Given the description of an element on the screen output the (x, y) to click on. 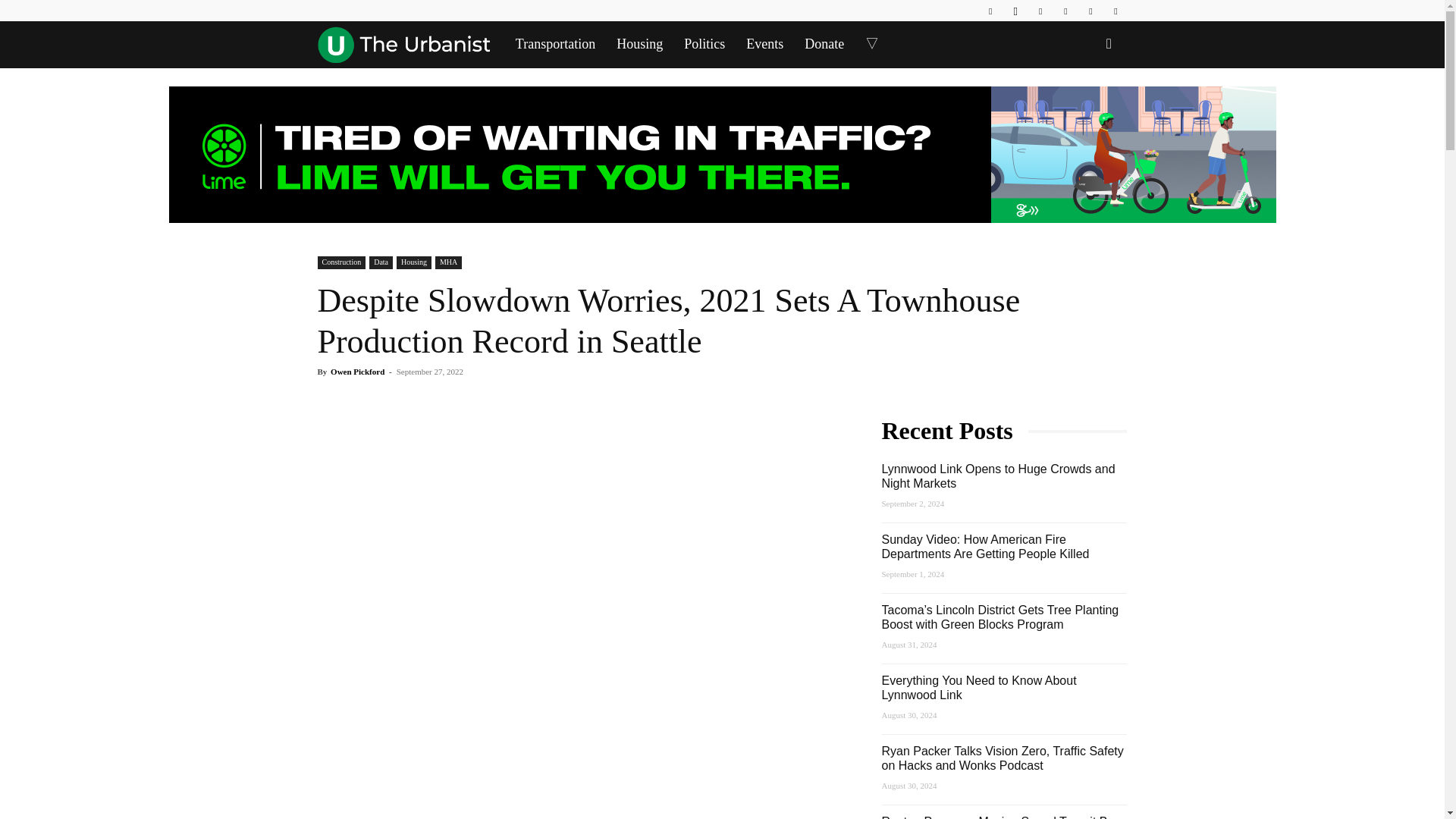
Linkedin (1040, 10)
Facebook (989, 10)
Youtube (1114, 10)
RSS (1065, 10)
The Urbanist (403, 44)
Instagram (1015, 10)
Twitter (1090, 10)
